Given the description of an element on the screen output the (x, y) to click on. 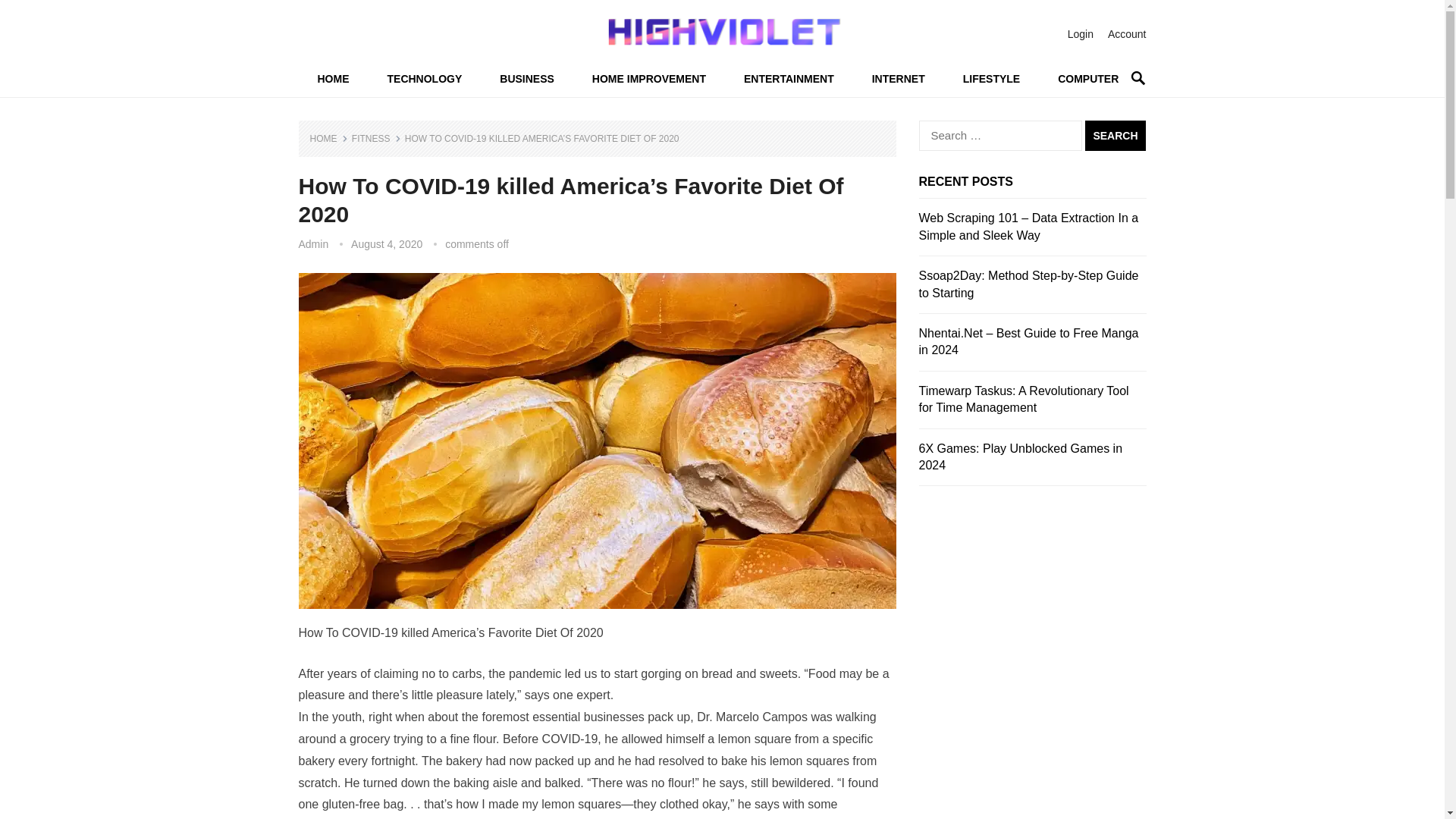
TECHNOLOGY (424, 78)
BUSINESS (526, 78)
View all posts in Fitness (376, 138)
Search (1114, 135)
HOME (333, 78)
Search (1114, 135)
Posts by Admin (313, 244)
Account (1127, 33)
HOME IMPROVEMENT (649, 78)
Login (1080, 33)
